Given the description of an element on the screen output the (x, y) to click on. 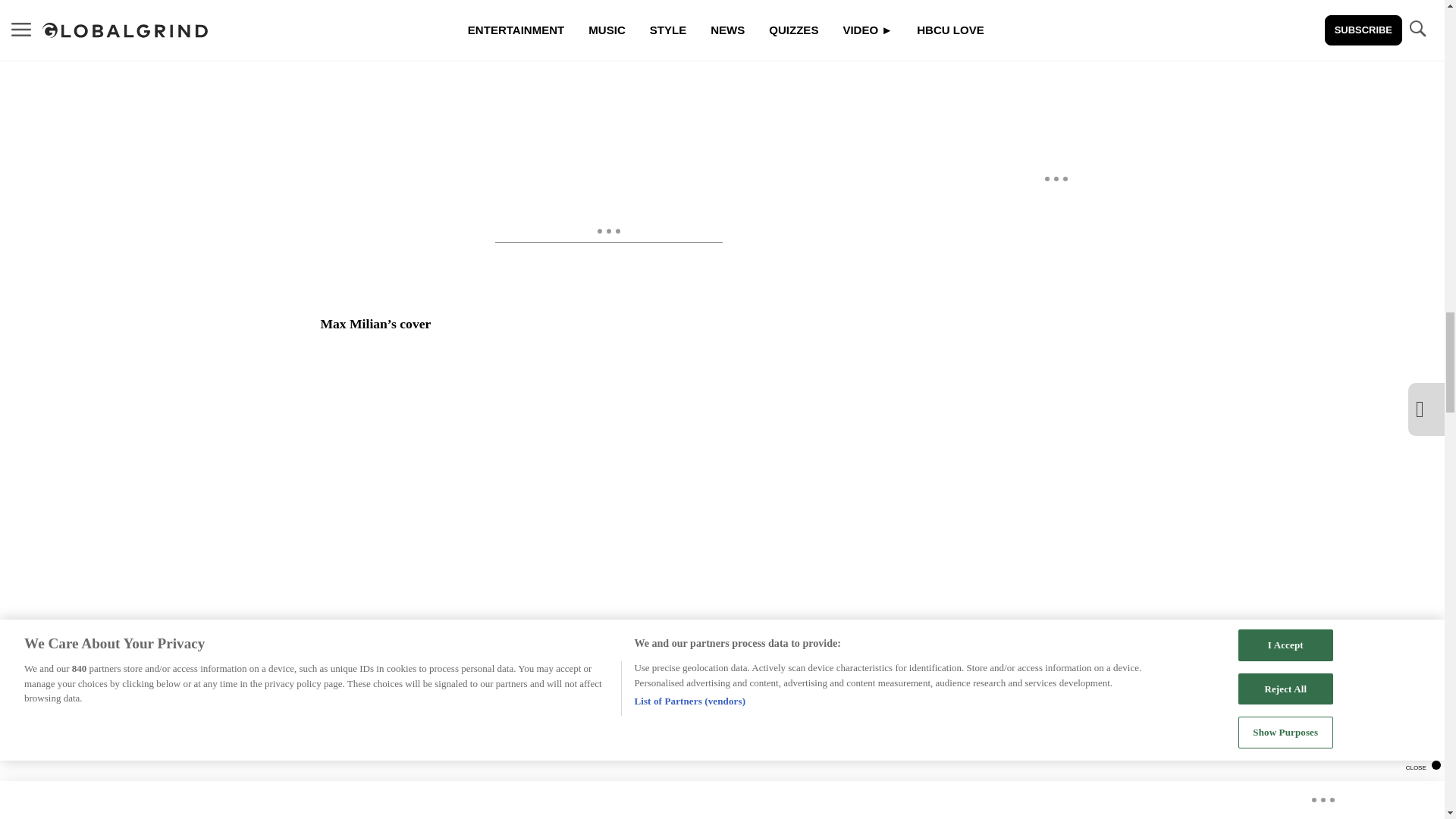
Embedded content (609, 751)
Embedded content (609, 74)
